Given the description of an element on the screen output the (x, y) to click on. 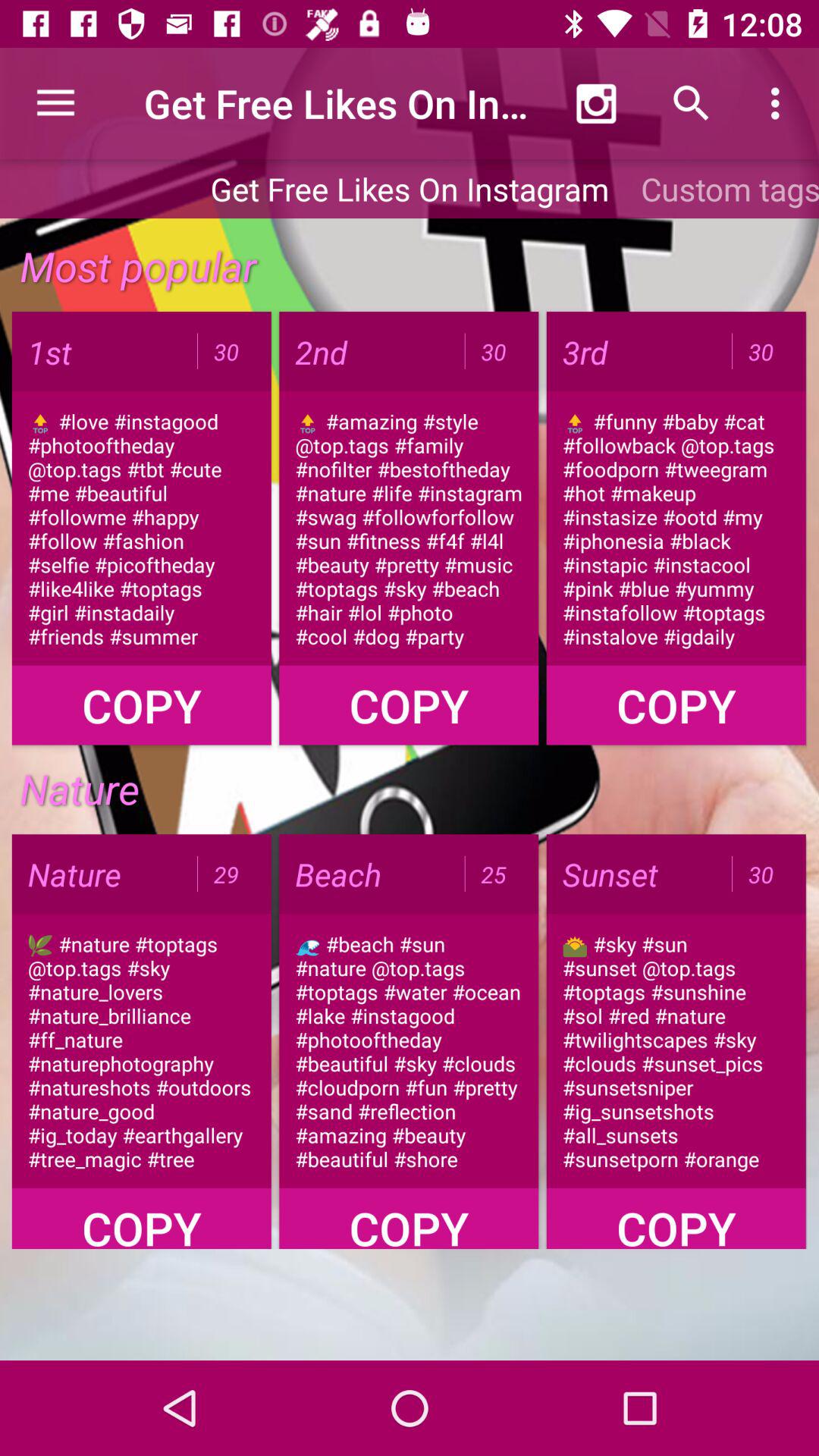
choose the app above the custom tags app (691, 103)
